Given the description of an element on the screen output the (x, y) to click on. 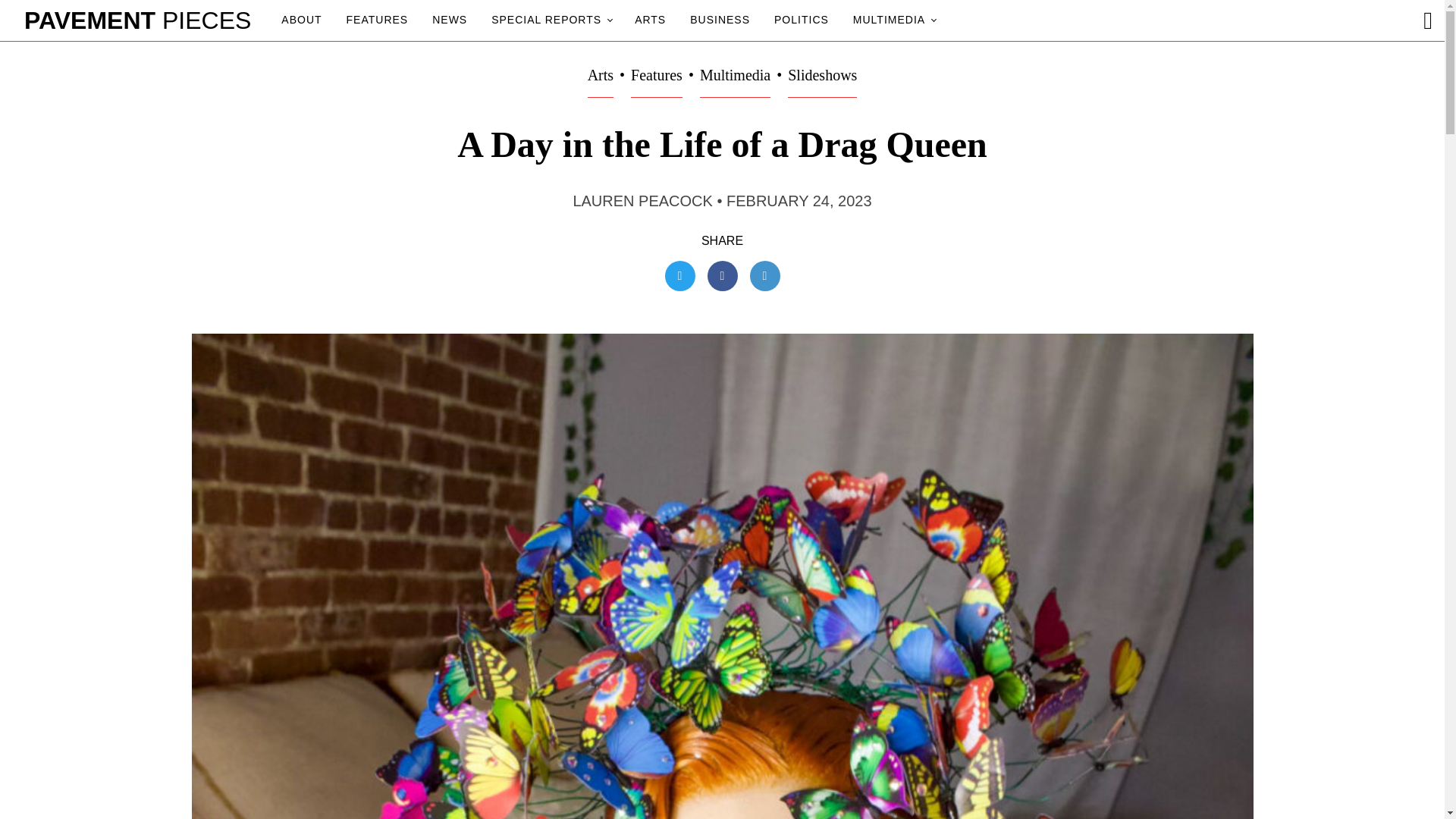
ARTS (649, 20)
FEATURES (377, 20)
PAVEMENT PIECES (137, 20)
Share to Facebook (721, 276)
SPECIAL REPORTS (549, 20)
Share to Twitter (678, 276)
MULTIMEDIA (893, 20)
NEWS (449, 20)
ABOUT (301, 20)
